Given the description of an element on the screen output the (x, y) to click on. 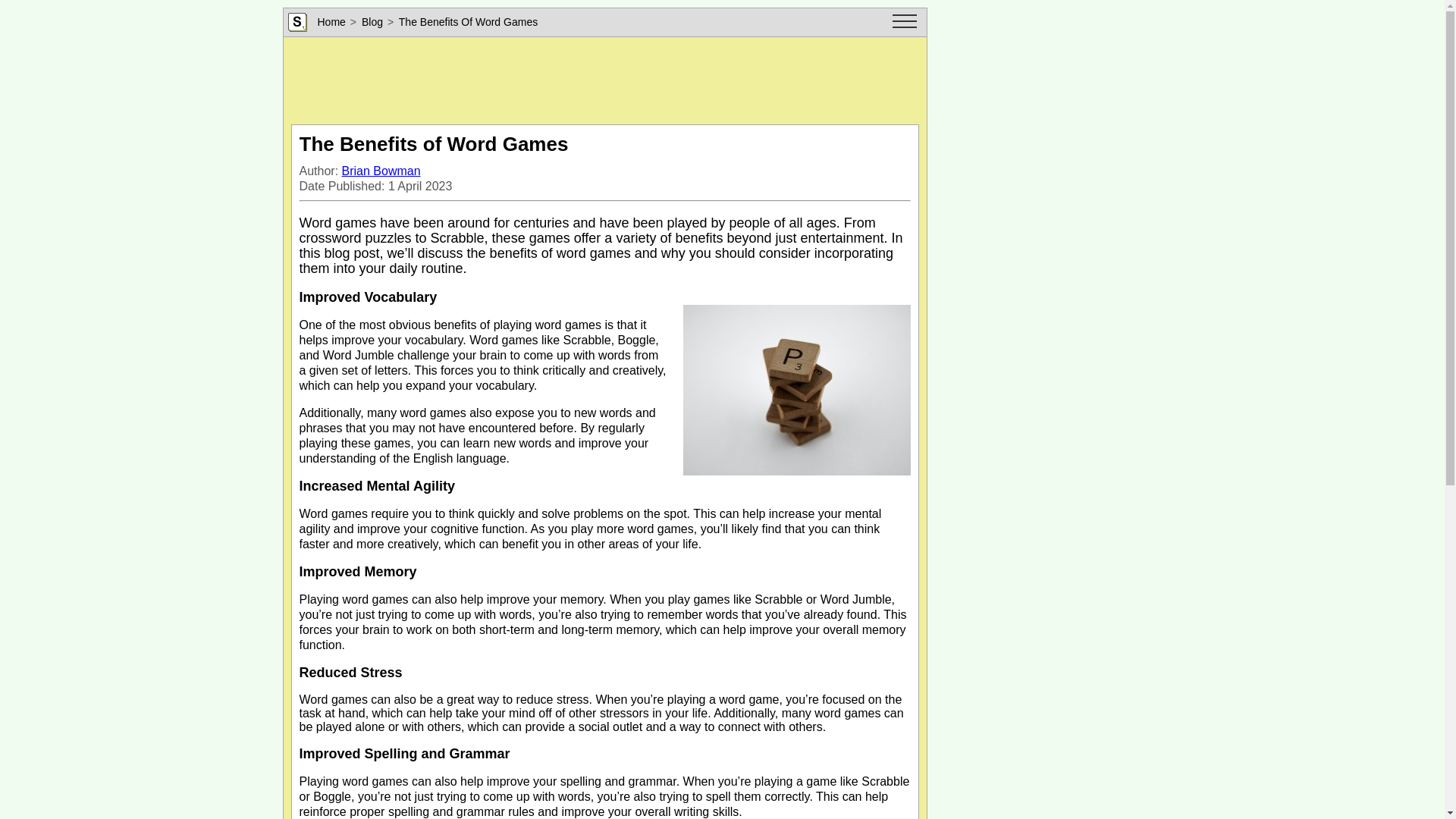
Brian Bowman (381, 170)
The Benefits Of Word Games (467, 21)
Home (331, 21)
Scrabble Solver (297, 22)
Blog (371, 21)
Scrabble Solver Homepage (331, 21)
Blog (371, 21)
The Benefits Of Word Games (467, 21)
